Given the description of an element on the screen output the (x, y) to click on. 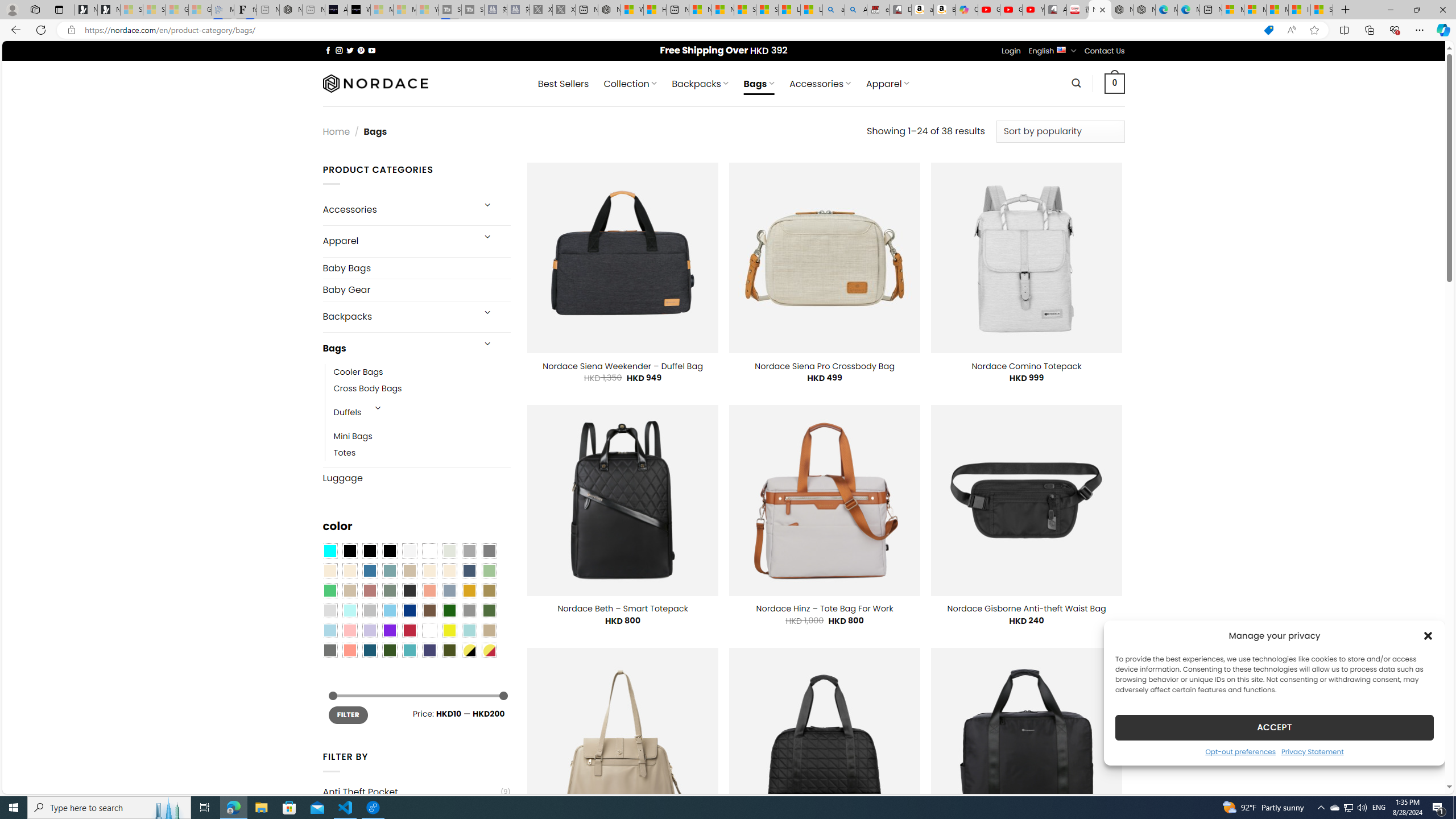
Cream (449, 570)
Baby Gear (416, 289)
All Gray (488, 550)
Purple (389, 630)
Nordace - Nordace has arrived Hong Kong (1144, 9)
Microsoft Start Sports - Sleeping (381, 9)
Shop order (1060, 131)
Beige (329, 570)
Dark Gray (468, 550)
Anti Theft Pocket(9) (416, 791)
